Given the description of an element on the screen output the (x, y) to click on. 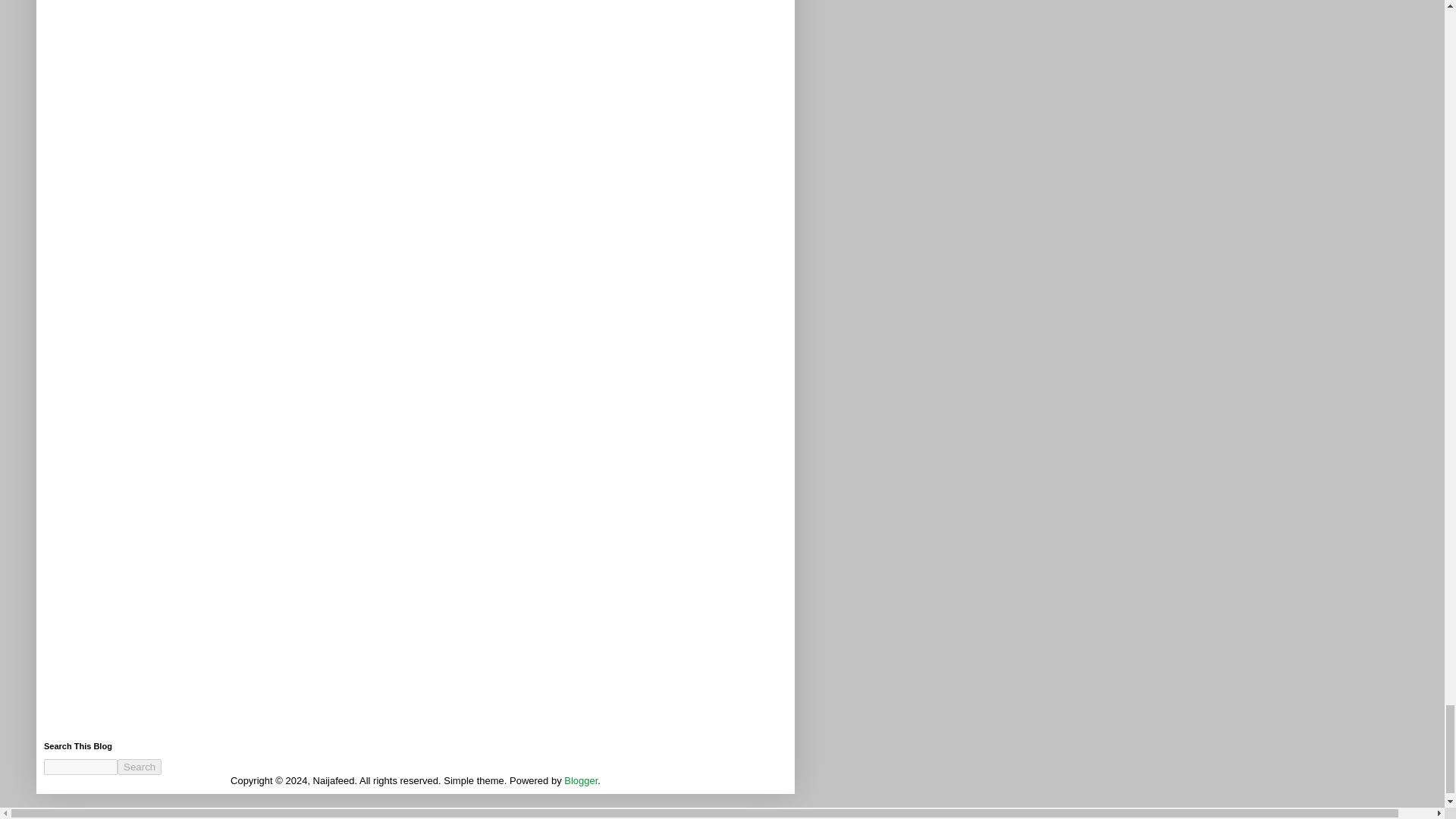
Search (139, 766)
Search (139, 766)
search (80, 766)
search (139, 766)
